Given the description of an element on the screen output the (x, y) to click on. 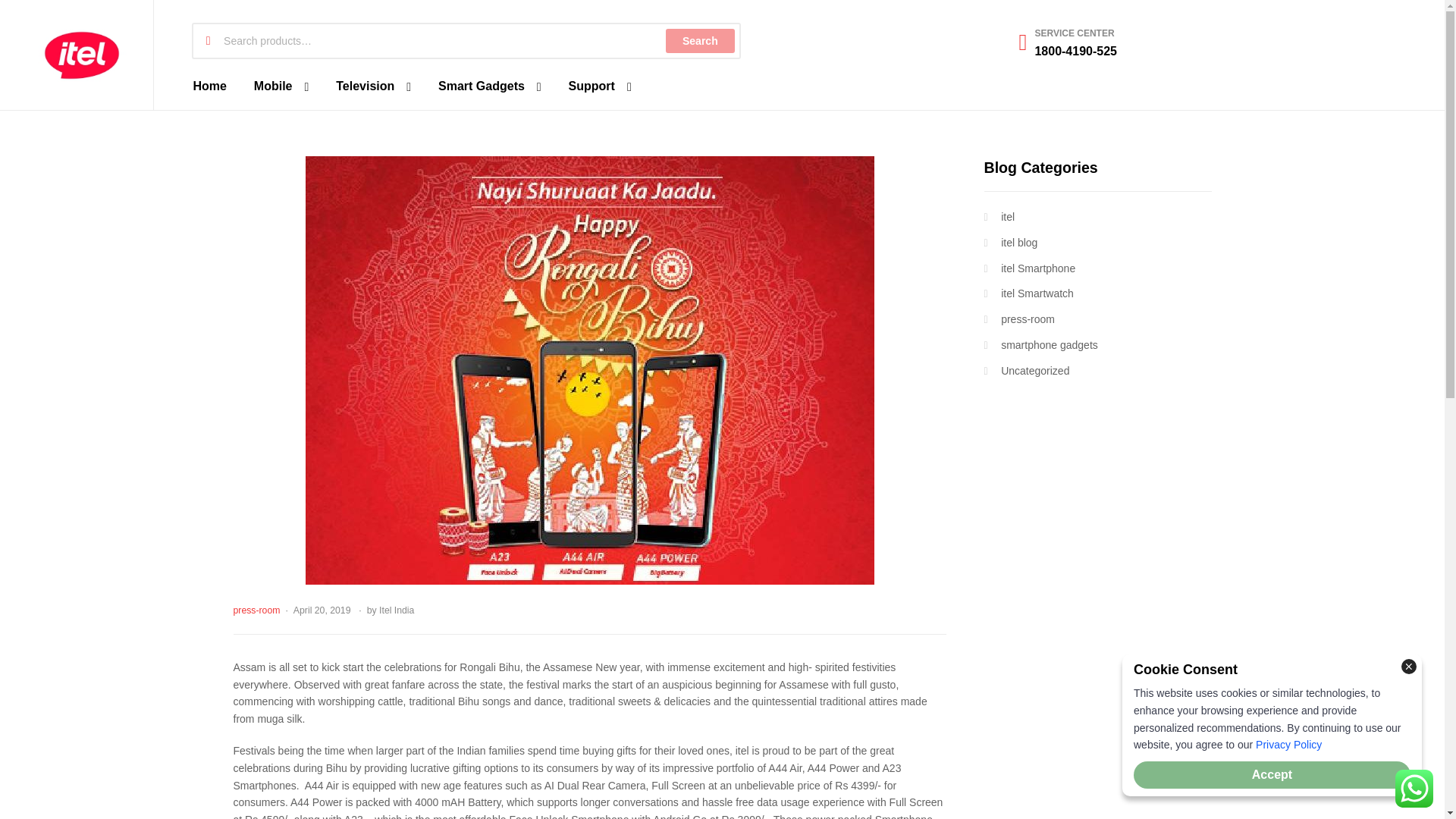
Search (699, 40)
Mobile (281, 86)
Smart Gadgets (489, 86)
Home (209, 86)
Support (599, 86)
Television (373, 86)
